Given the description of an element on the screen output the (x, y) to click on. 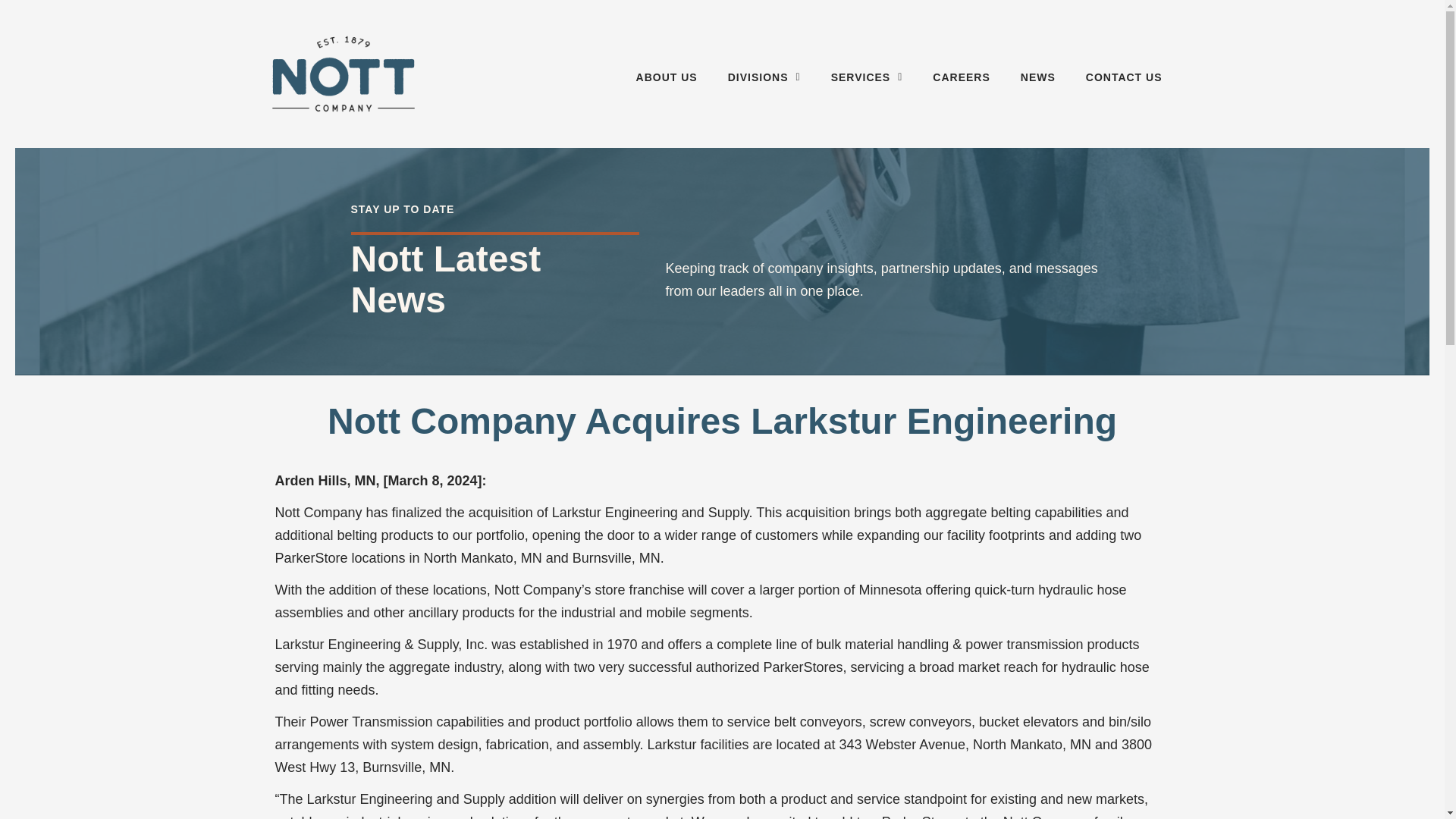
SERVICES (866, 77)
DIVISIONS (764, 77)
NEWS (1038, 77)
ABOUT US (667, 77)
CONTACT US (1123, 77)
CAREERS (960, 77)
